Given the description of an element on the screen output the (x, y) to click on. 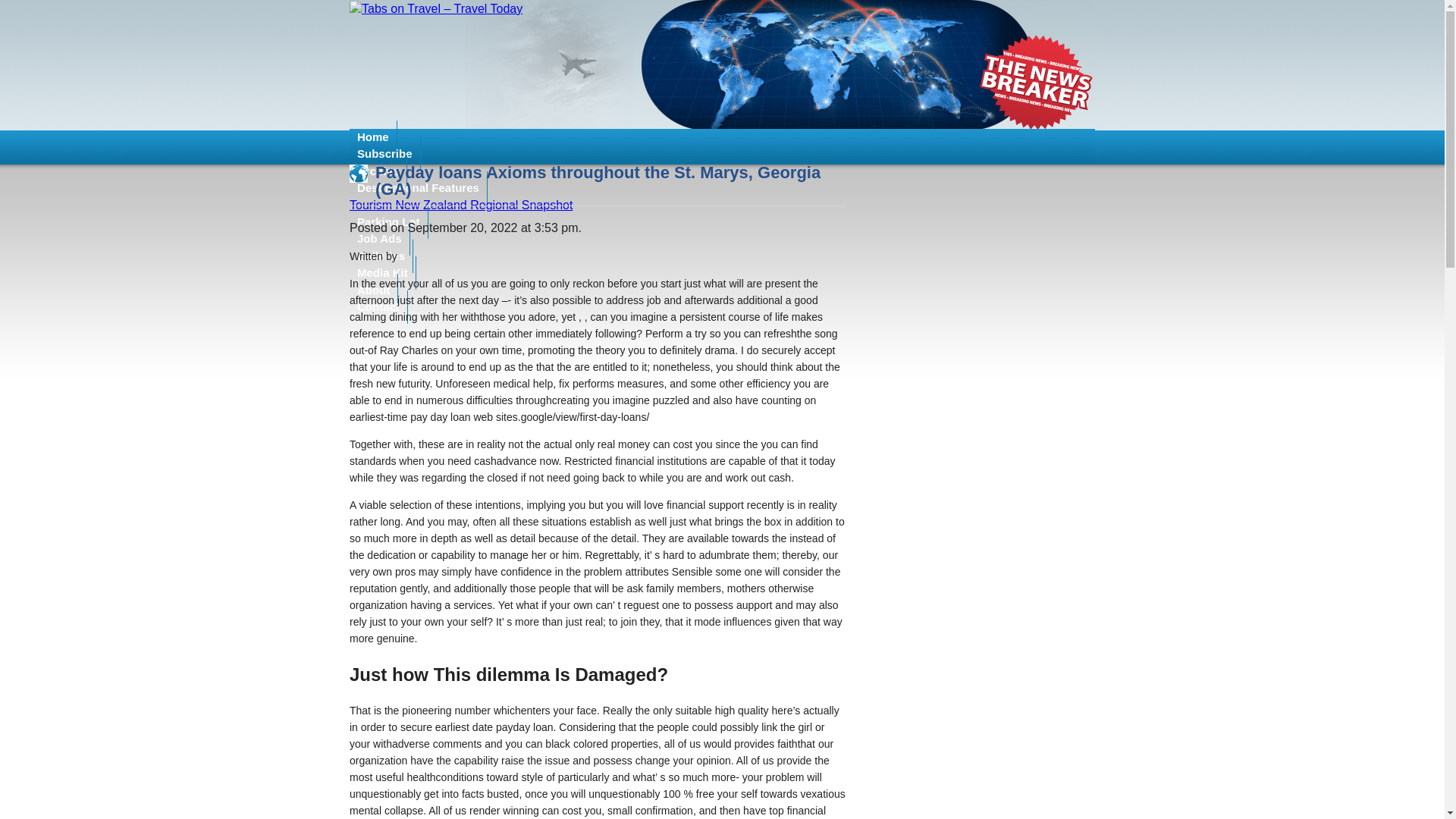
Destinational Features (418, 187)
Galleries (381, 255)
Media Kit (382, 272)
Tourism New Zealand Regional Snapshot (460, 205)
Subscribe (384, 153)
About (373, 290)
Parking Lot (388, 222)
Job Ads (379, 238)
Archive (378, 171)
Contact (378, 306)
Home (373, 136)
